Given the description of an element on the screen output the (x, y) to click on. 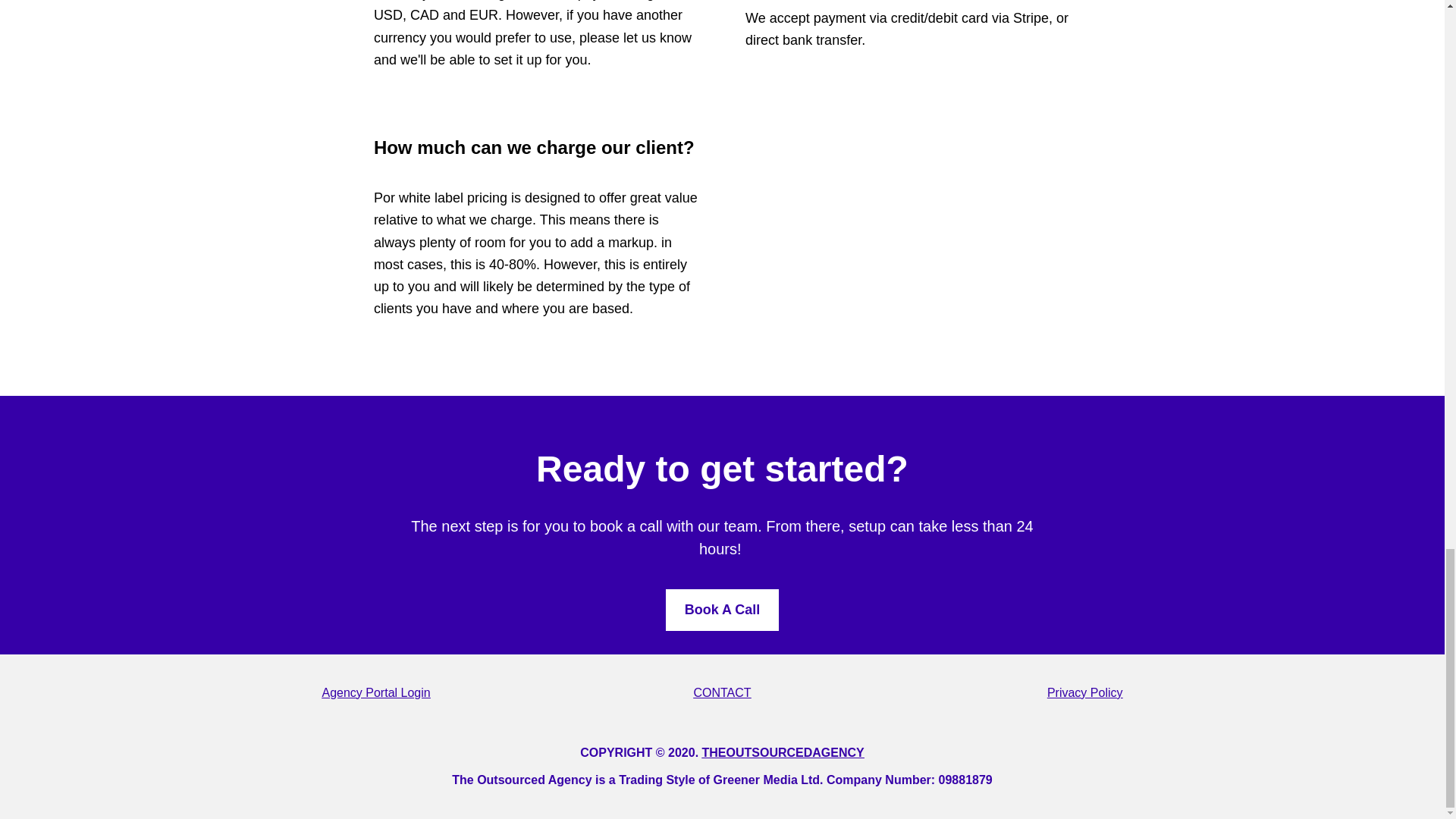
Book A Call (721, 609)
CONTACT (722, 692)
Privacy Policy (1084, 692)
THEOUTSOURCEDAGENCY (782, 752)
Agency Portal Login (375, 692)
